Given the description of an element on the screen output the (x, y) to click on. 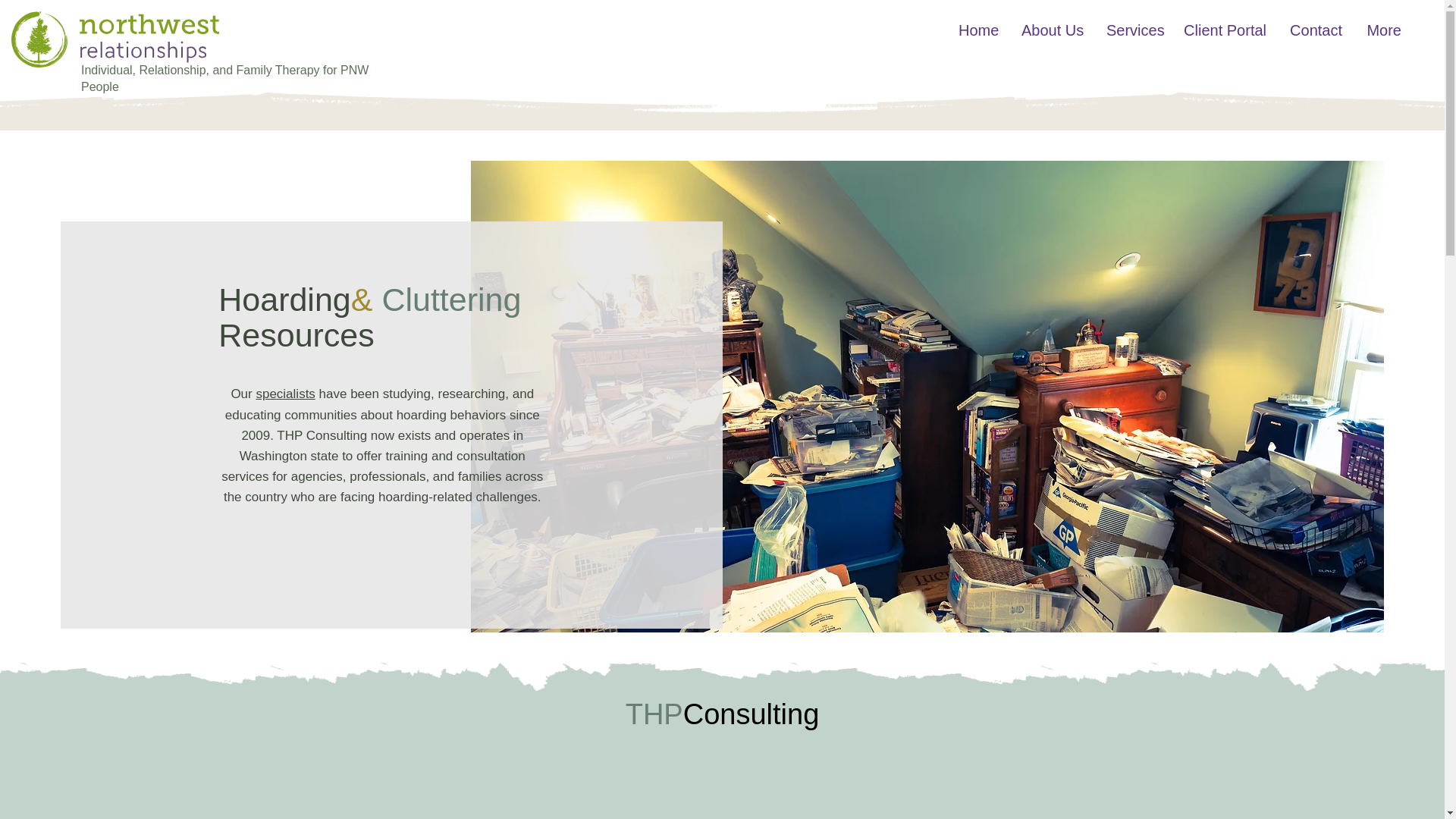
About Us (1051, 30)
Client Portal (1225, 30)
Services (1133, 30)
Home (977, 30)
specialists (285, 393)
Contact (1316, 30)
